Given the description of an element on the screen output the (x, y) to click on. 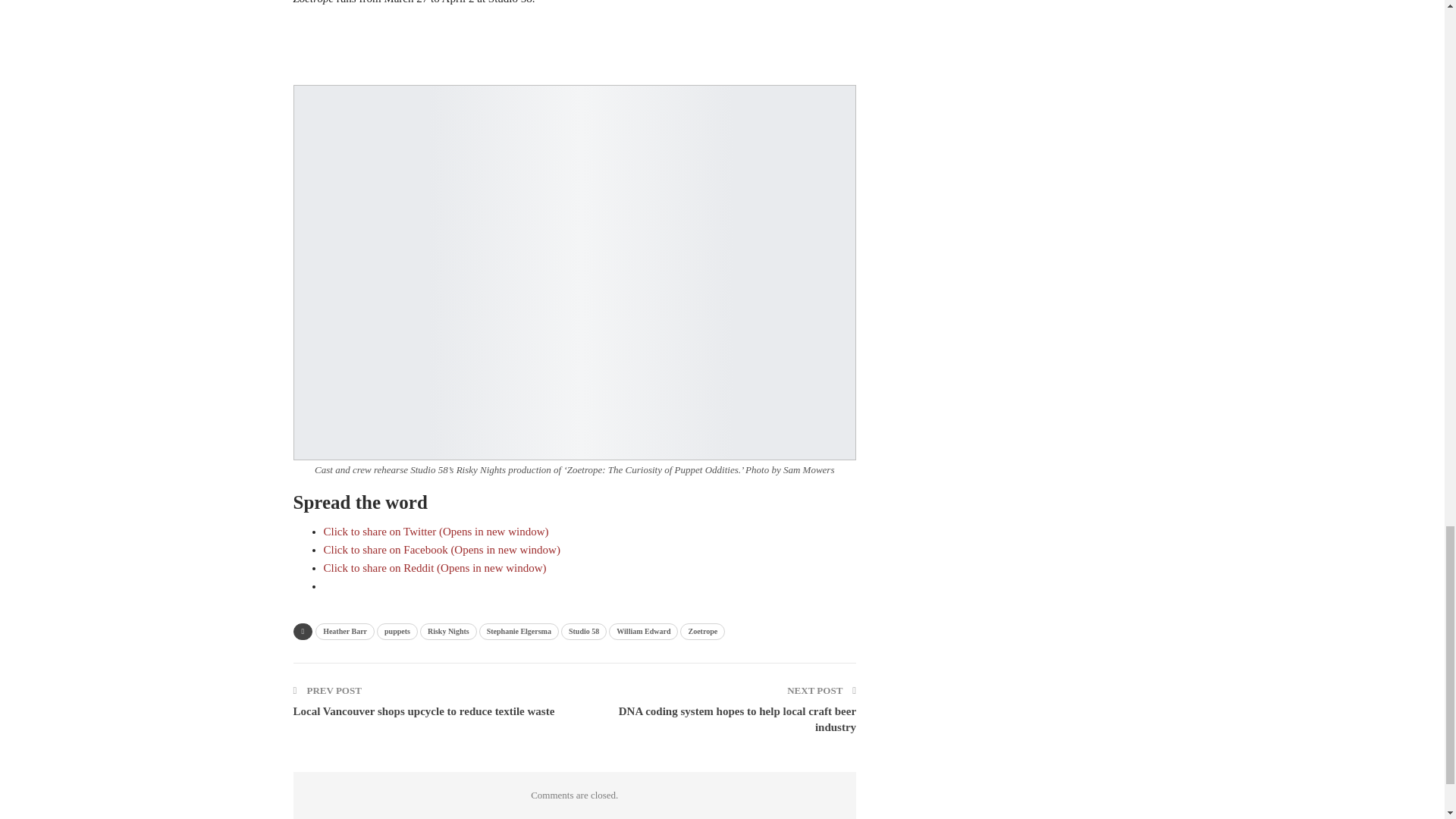
Risky Nights (448, 631)
Click to share on Twitter (435, 531)
William Edward (643, 631)
Studio 58 (583, 631)
Click to share on Reddit (434, 567)
Stephanie Elgersma (519, 631)
Local Vancouver shops upcycle to reduce textile waste (423, 711)
Click to share on Facebook (441, 549)
Heather Barr (344, 631)
Zoetrope (702, 631)
